Given the description of an element on the screen output the (x, y) to click on. 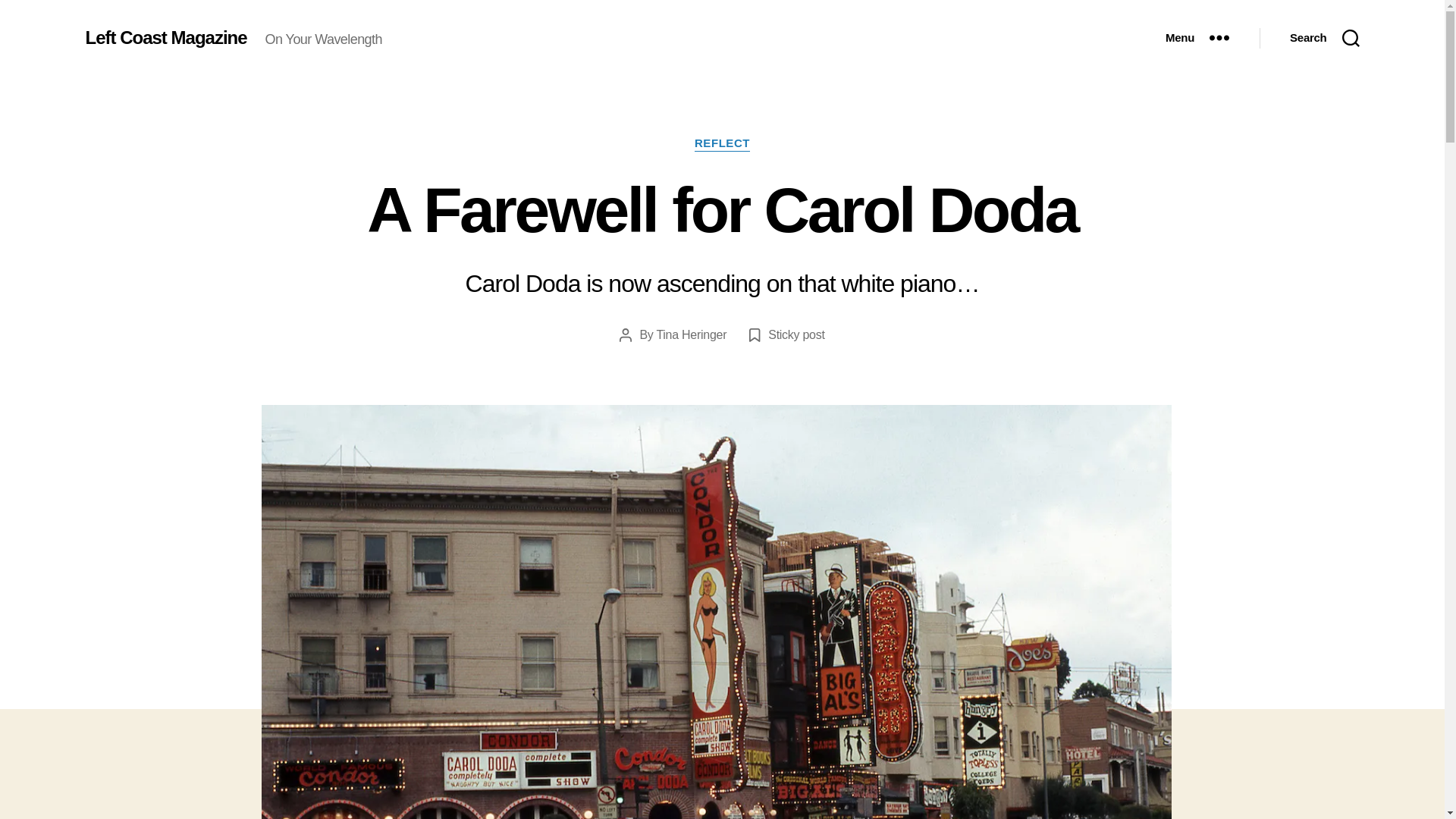
Search (1324, 37)
Left Coast Magazine (165, 37)
Menu (1197, 37)
